Given the description of an element on the screen output the (x, y) to click on. 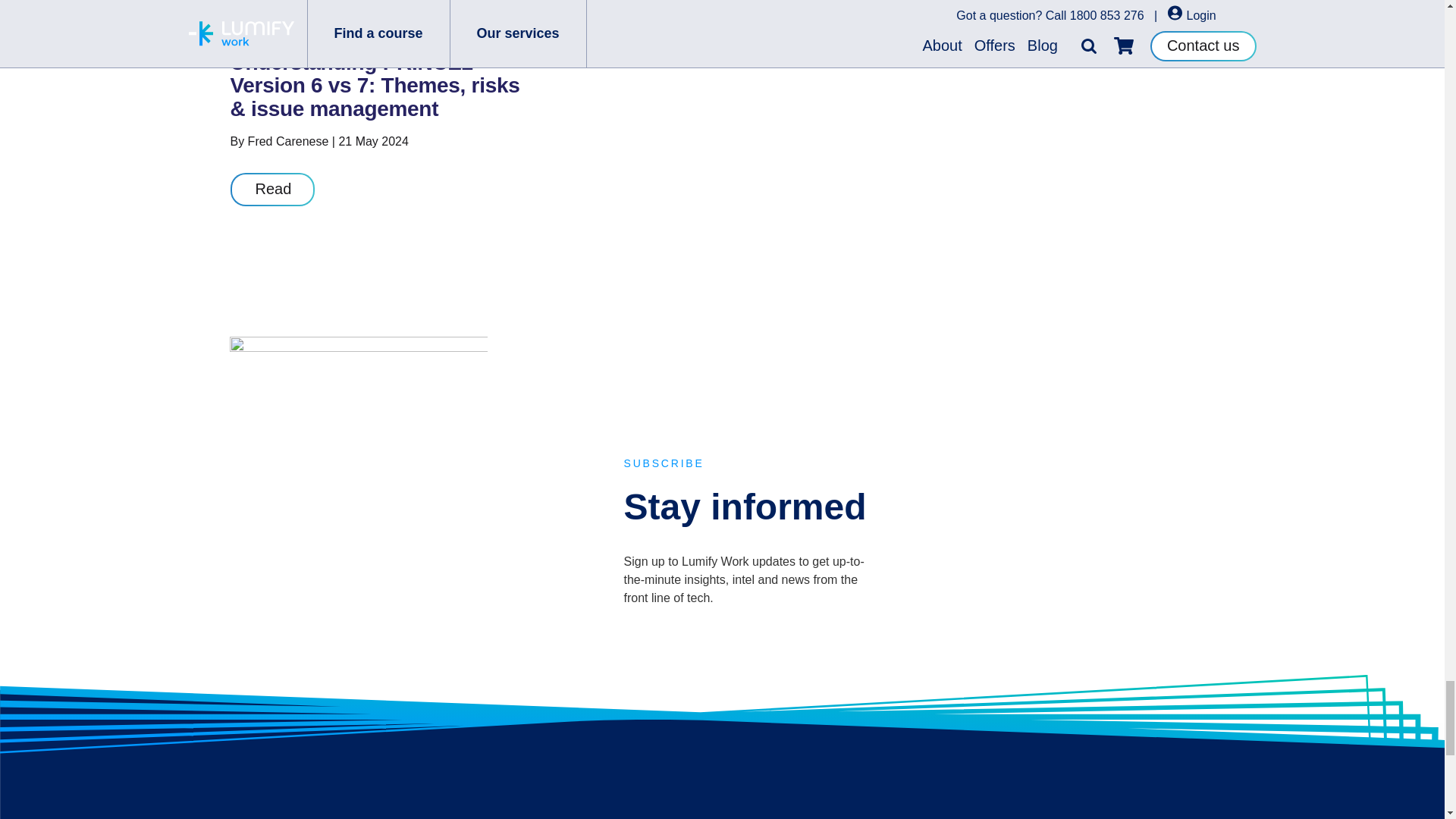
Read (272, 189)
